Given the description of an element on the screen output the (x, y) to click on. 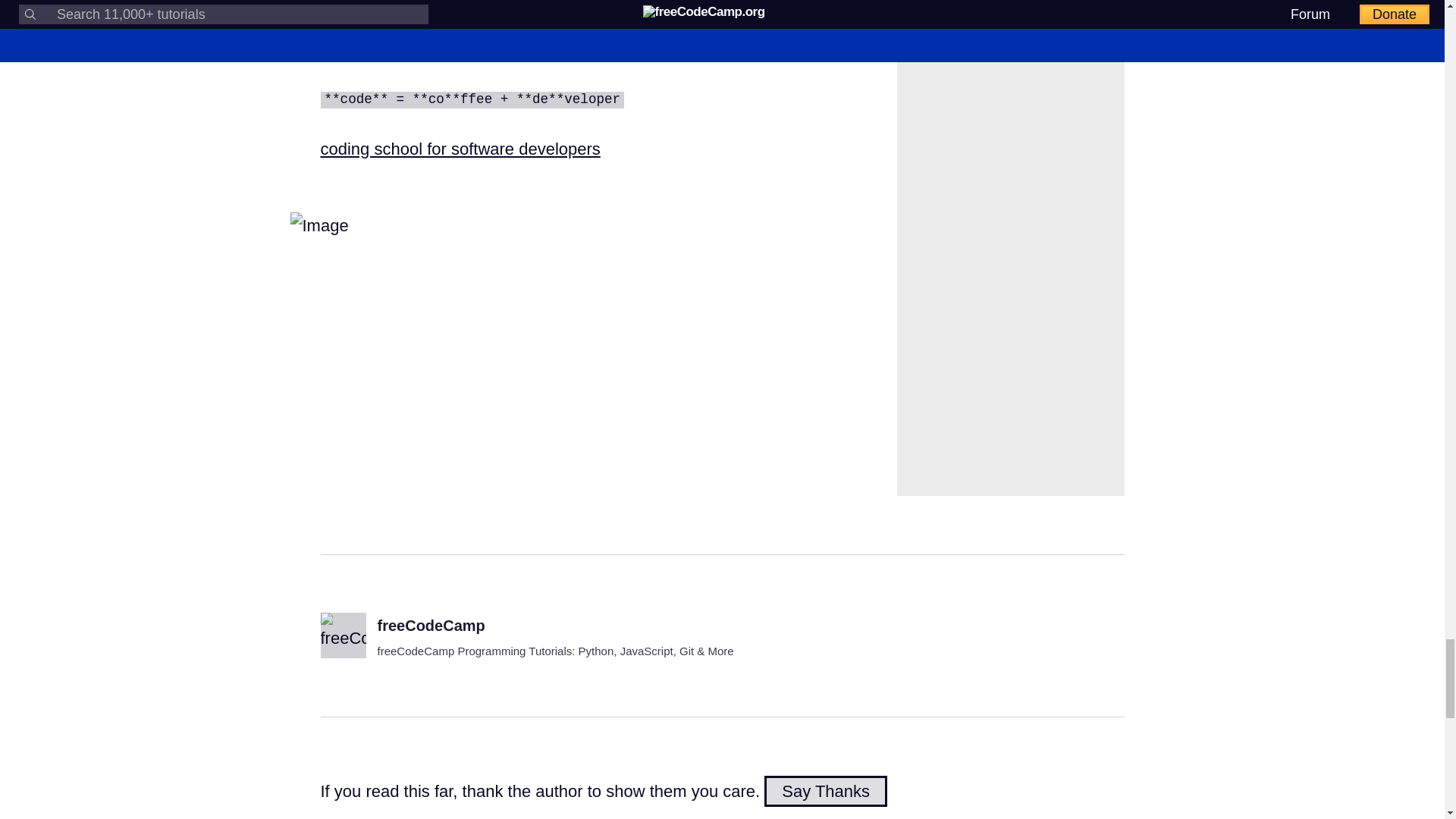
coding school for software developers (459, 148)
Say Thanks (825, 790)
freeCodeCamp (430, 625)
